Given the description of an element on the screen output the (x, y) to click on. 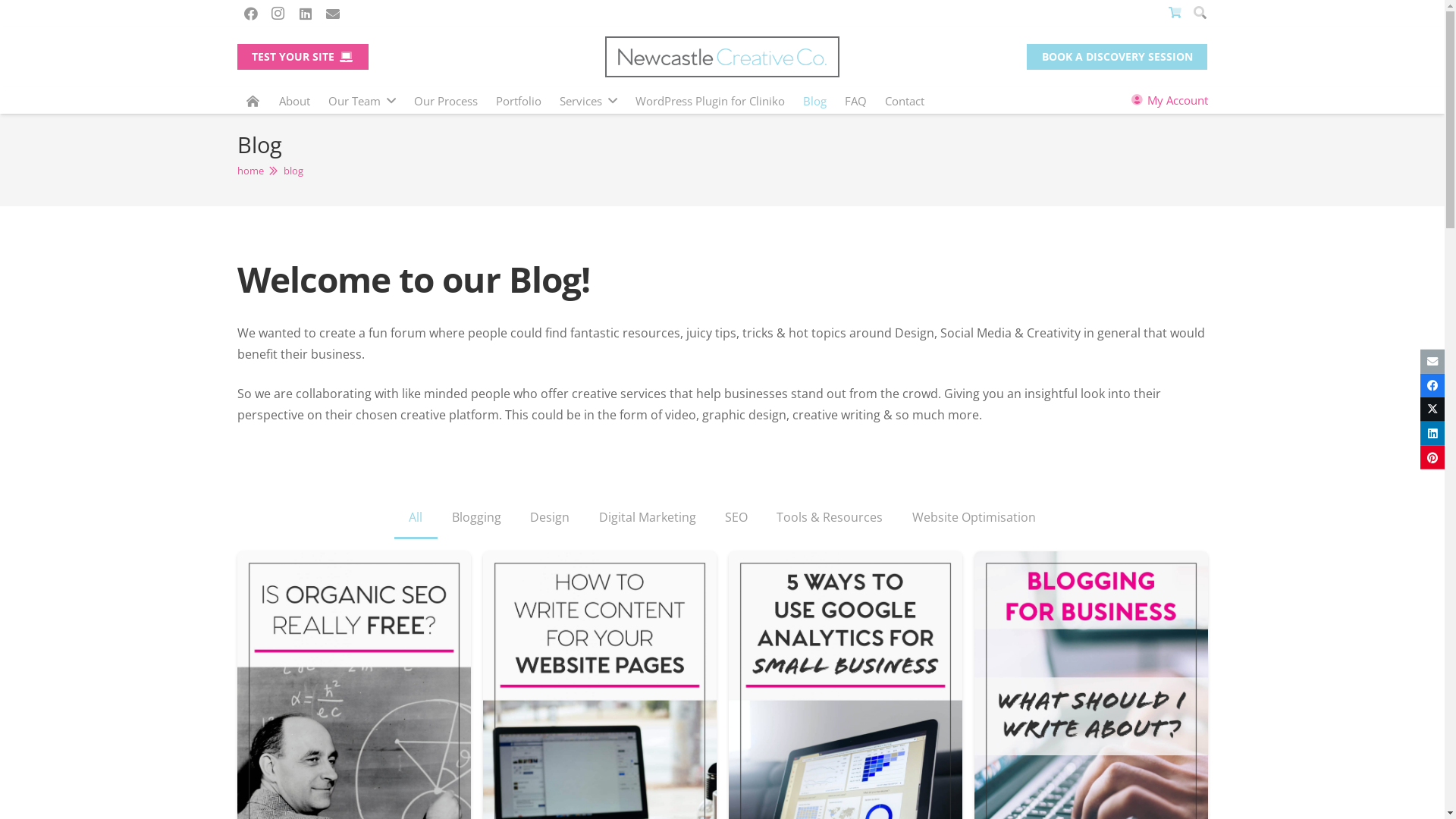
All Element type: text (415, 518)
Instagram Element type: hover (277, 13)
Instagram Element type: hover (296, 633)
Email this Element type: hover (1432, 361)
Digital Marketing Element type: text (646, 518)
About Element type: text (294, 100)
Share this Element type: hover (1432, 385)
Tweet this Element type: hover (1432, 409)
Facebook Element type: hover (255, 633)
Services Element type: text (588, 100)
Cookie Policy Element type: text (756, 799)
SEO Element type: text (736, 518)
Google Play Podcast Element type: hover (460, 633)
Blog Element type: text (814, 100)
WordPress Plugin for Cliniko Element type: text (709, 100)
TEST YOUR SITE Element type: text (1106, 585)
TEST YOUR SITE Element type: text (301, 56)
Email Element type: hover (331, 13)
Apple Podcast Element type: hover (378, 633)
LinkedIn Element type: hover (337, 633)
Blogging Element type: text (476, 518)
FAQ Element type: text (855, 100)
Tools & Resources Element type: text (829, 518)
Design Element type: text (549, 518)
hello Element type: text (273, 526)
Pin this Element type: hover (1432, 457)
Website Optimisation Element type: text (973, 518)
My Account Element type: text (1169, 99)
blog Element type: text (293, 170)
Share this Element type: hover (1432, 433)
Our Process Element type: text (445, 100)
LinkedIn Element type: hover (304, 13)
Contact Element type: text (904, 100)
Facebook Element type: hover (249, 13)
home Element type: text (249, 170)
Privacy Policy Element type: text (688, 799)
Spotify Podcast Element type: hover (419, 633)
Portfolio Element type: text (518, 100)
BOOK A DISCOVERY SESSION Element type: text (849, 571)
BOOK A DISCOVERY SESSION Element type: text (1116, 56)
Our Team Element type: text (361, 100)
